Given the description of an element on the screen output the (x, y) to click on. 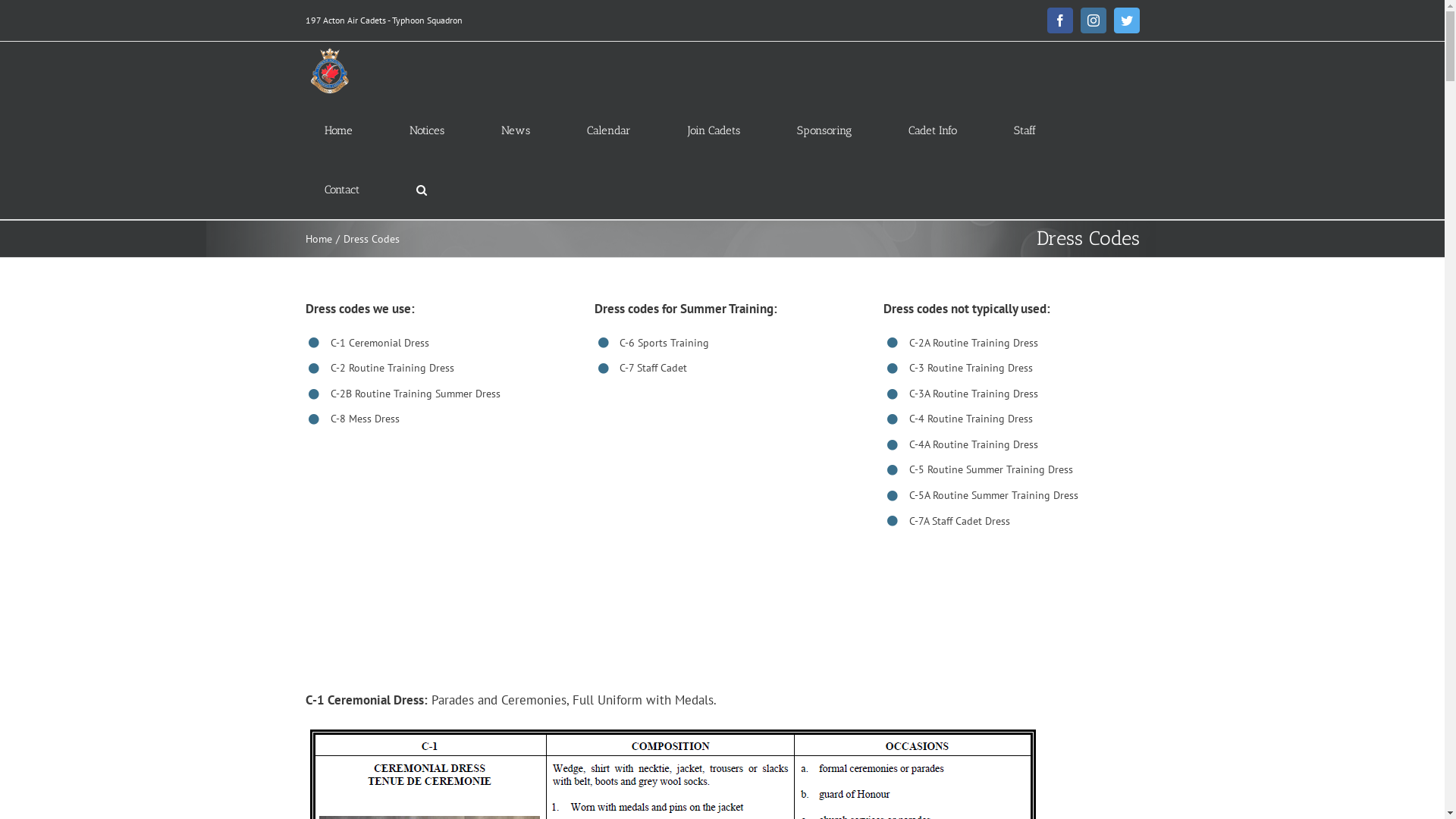
C-2A Routine Training Dress Element type: text (973, 341)
Cadet Info Element type: text (931, 130)
Facebook Element type: text (1059, 20)
Sponsoring Element type: text (824, 130)
Search Element type: hover (421, 189)
News Element type: text (515, 130)
C-7 Staff Cadet Element type: text (653, 367)
C-3A Routine Training Dress Element type: text (973, 393)
C-6 Sports Training Element type: text (664, 341)
Home Element type: text (337, 130)
Calendar Element type: text (608, 130)
Twitter Element type: text (1126, 20)
C-4A Routine Training Dress Element type: text (973, 444)
Instagram Element type: text (1092, 20)
C-8 Mess Dress Element type: text (364, 418)
C-1 Ceremonial Dress Element type: text (379, 341)
C-2B Routine Training Summer Dress Element type: text (415, 393)
Join Cadets Element type: text (713, 130)
C-7A Staff Cadet Dress Element type: text (959, 520)
C-3 Routine Training Dress Element type: text (970, 367)
C-2 Routine Training Dress Element type: text (392, 367)
C-5A Routine Summer Training Dress Element type: text (993, 495)
Staff Element type: text (1024, 130)
C-5 Routine Summer Training Dress Element type: text (991, 469)
Notices Element type: text (425, 130)
Contact Element type: text (340, 189)
Home Element type: text (317, 238)
C-4 Routine Training Dress Element type: text (970, 418)
